Given the description of an element on the screen output the (x, y) to click on. 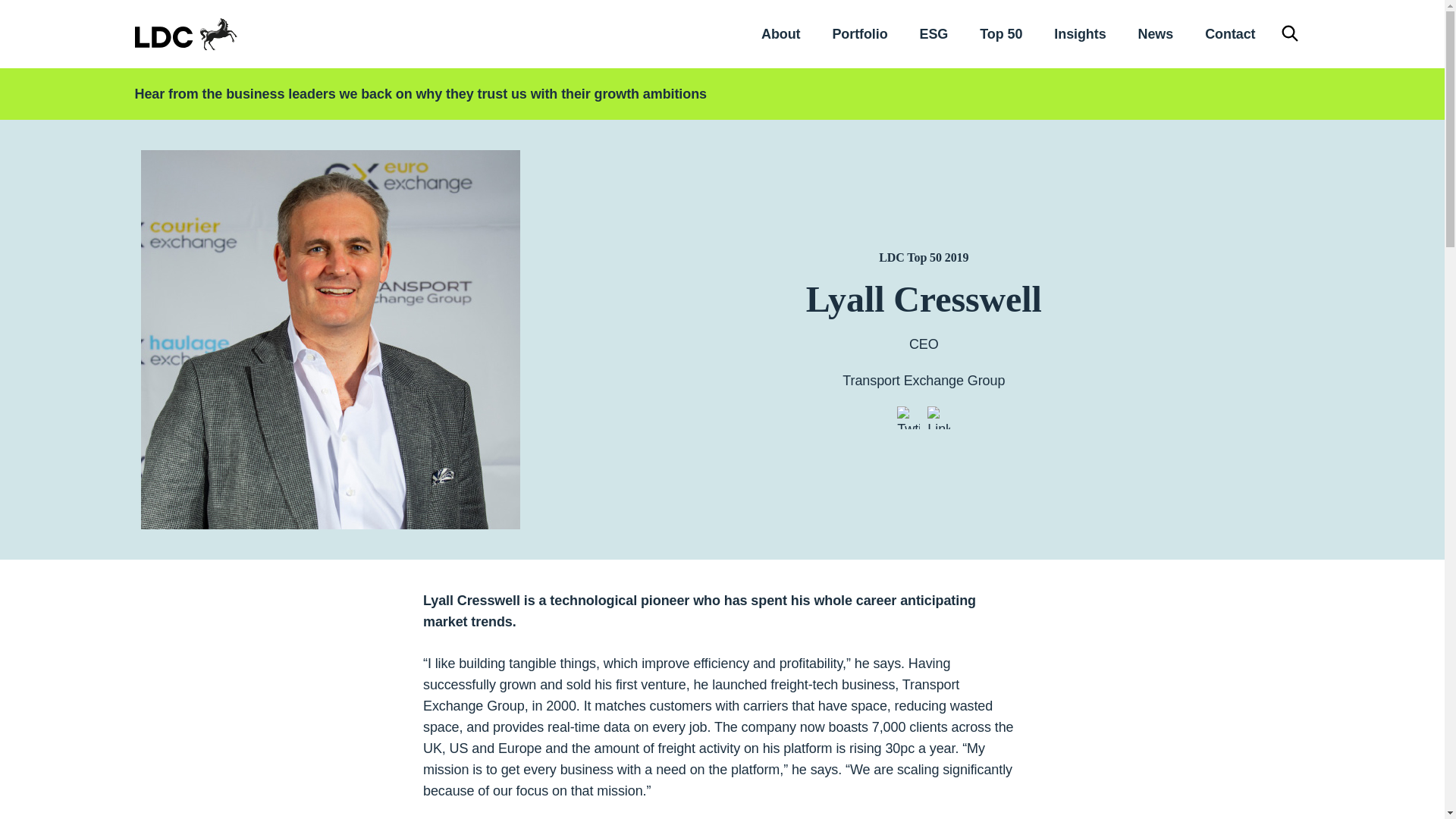
Portfolio (858, 33)
About (780, 33)
ESG (933, 33)
Top 50 (1000, 33)
